Given the description of an element on the screen output the (x, y) to click on. 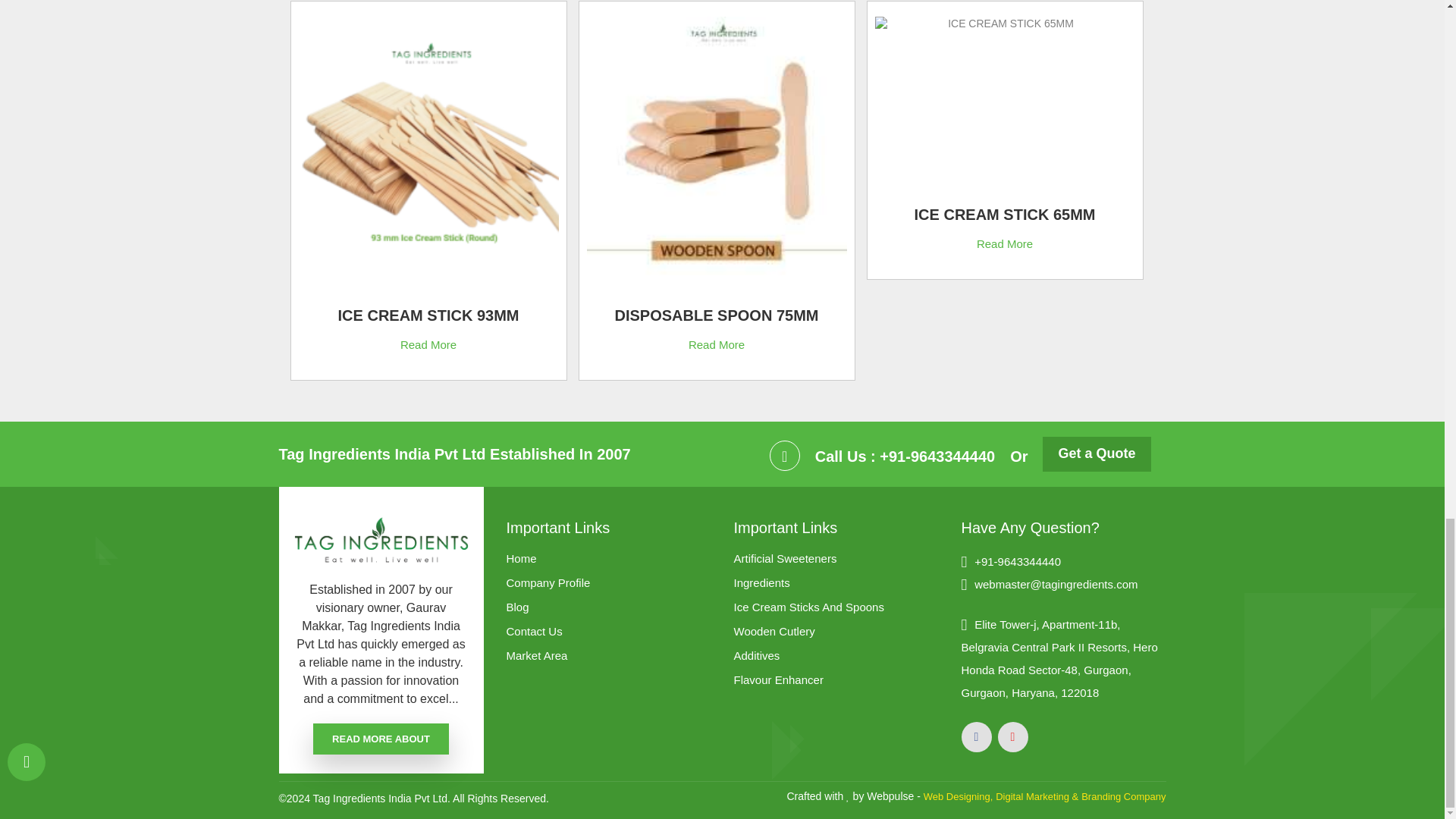
ICE CREAM STICK 65MM (1004, 218)
ICE CREAM STICK 93MM (427, 318)
DISPOSABLE SPOON 75MM (716, 318)
Read More (427, 343)
Read More (716, 343)
Read More (1004, 244)
